Given the description of an element on the screen output the (x, y) to click on. 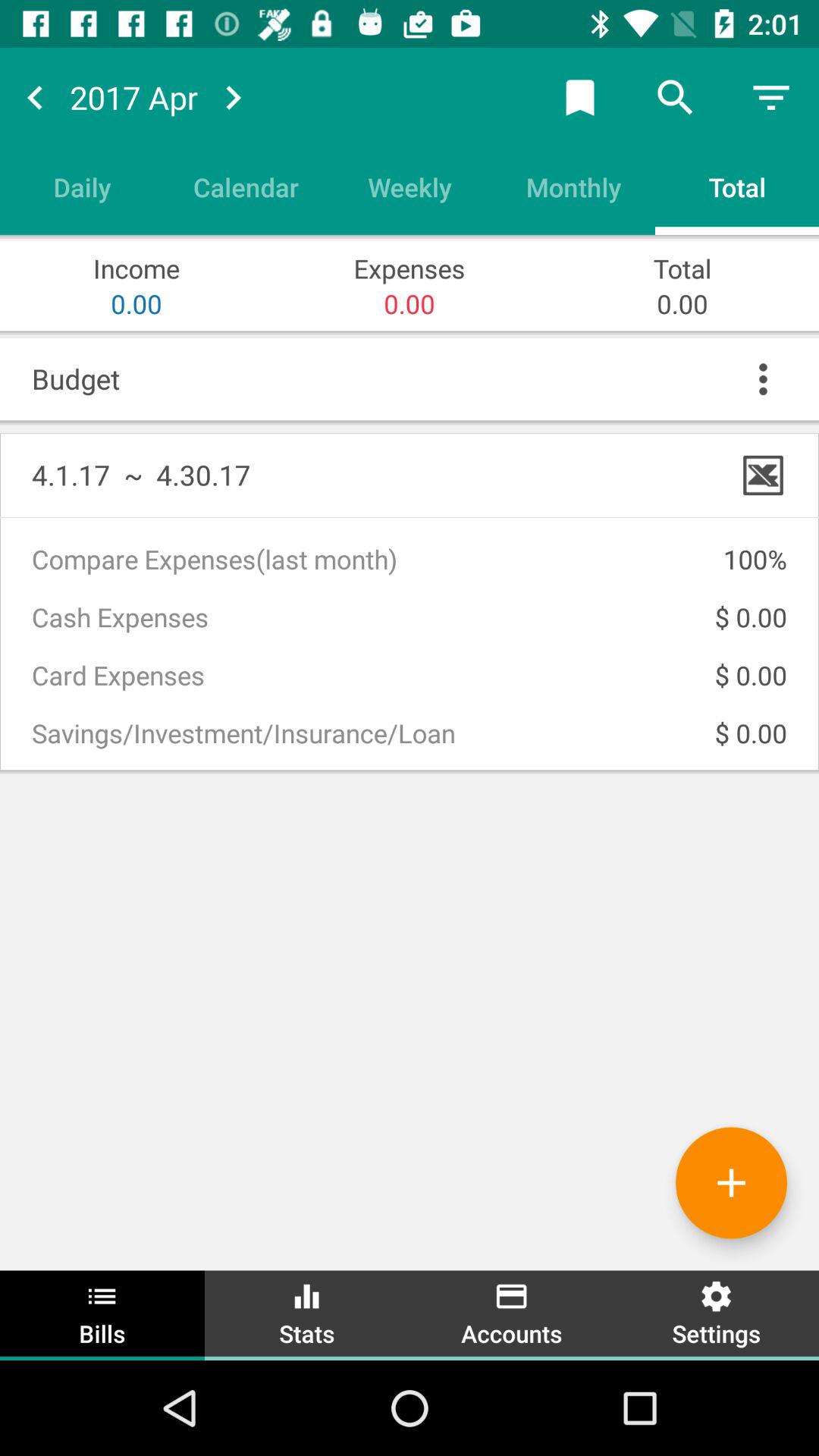
select icon to the left of the monthly item (409, 186)
